Given the description of an element on the screen output the (x, y) to click on. 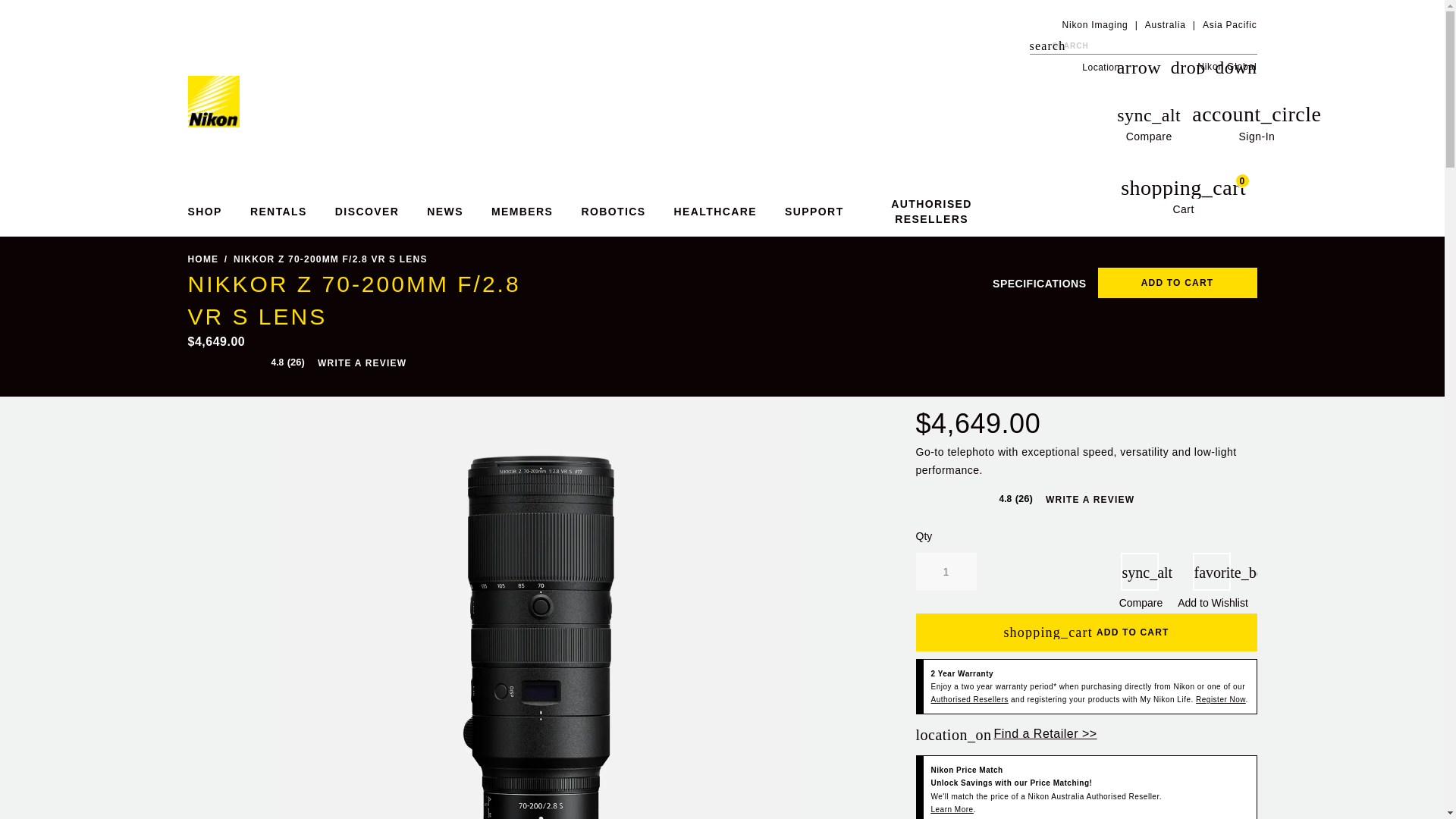
Add to Cart (1177, 282)
Search (1040, 45)
Nikon Imaging (1093, 24)
SEARCH (1040, 45)
Australia (1165, 24)
Sign-In (1178, 198)
Qty (1256, 122)
1 (945, 571)
Asia Pacific (945, 571)
